Given the description of an element on the screen output the (x, y) to click on. 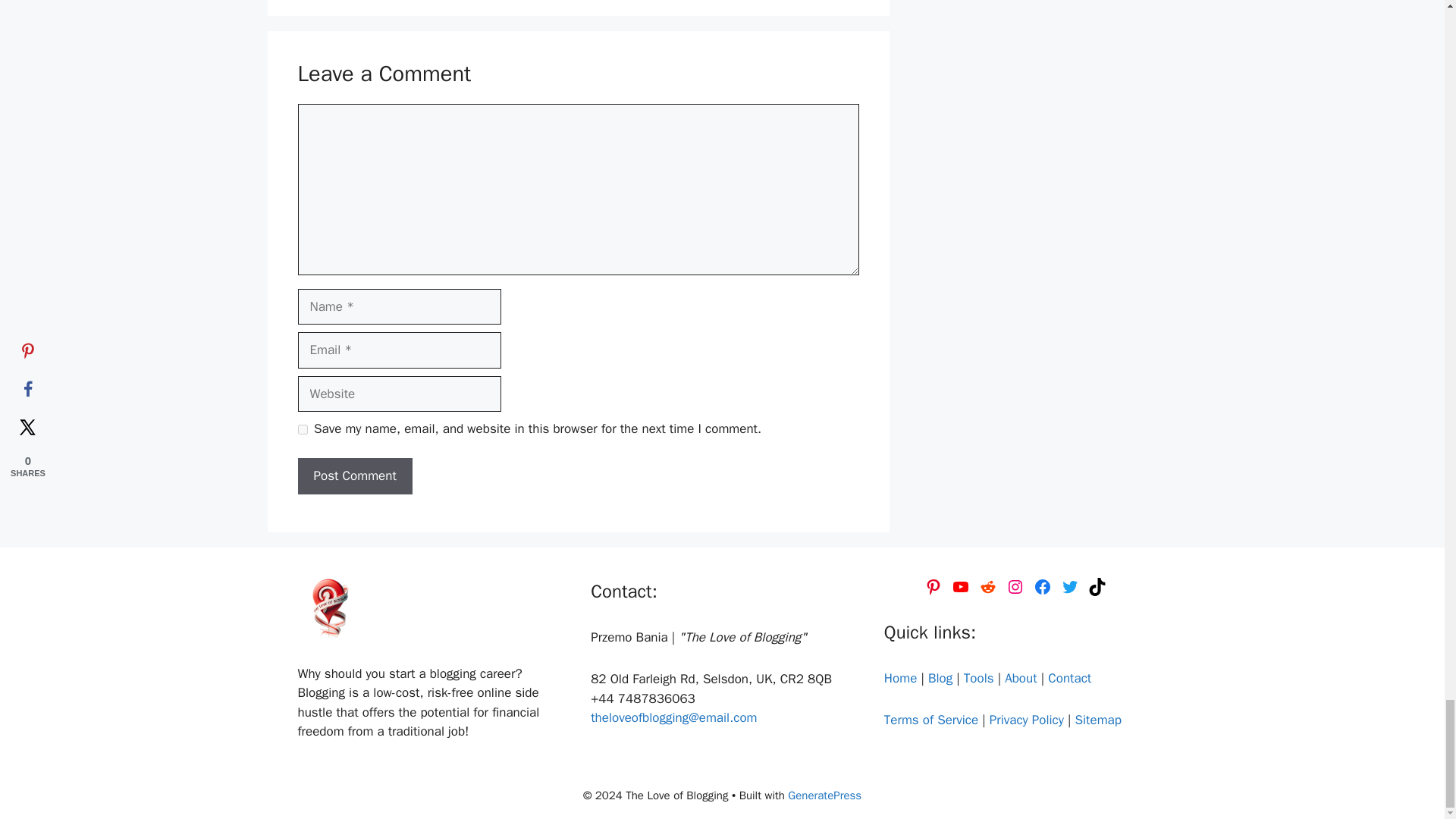
Post Comment (354, 475)
yes (302, 429)
